Given the description of an element on the screen output the (x, y) to click on. 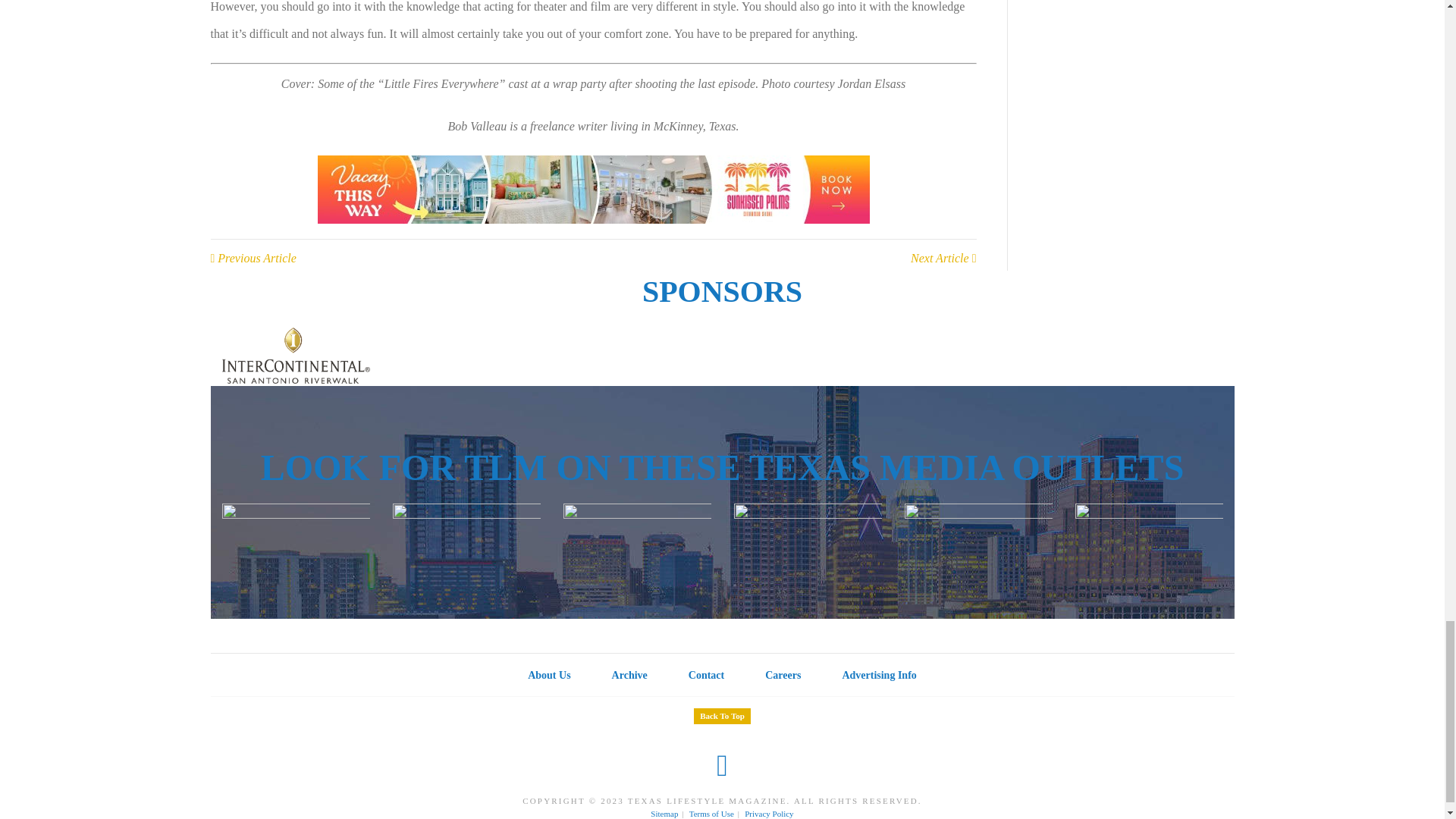
KVUE (466, 549)
Daytime (807, 549)
Daytime (295, 549)
Intercontinental SA Logo (295, 355)
Studio 512 (1149, 549)
KHOU (636, 549)
SA Living (977, 549)
